Given the description of an element on the screen output the (x, y) to click on. 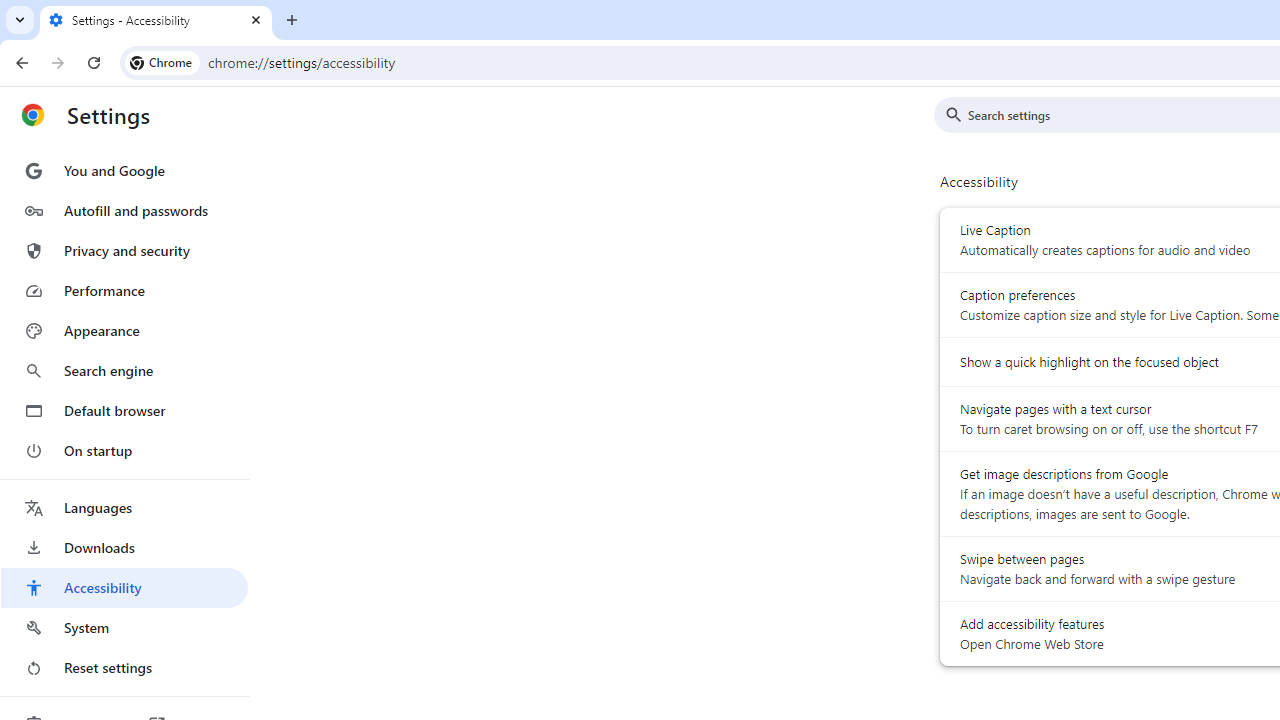
Privacy and security (124, 250)
Settings - Accessibility (156, 20)
Search engine (124, 370)
Default browser (124, 410)
Languages (124, 507)
Reset settings (124, 668)
Appearance (124, 331)
You and Google (124, 170)
Accessibility (124, 587)
